Given the description of an element on the screen output the (x, y) to click on. 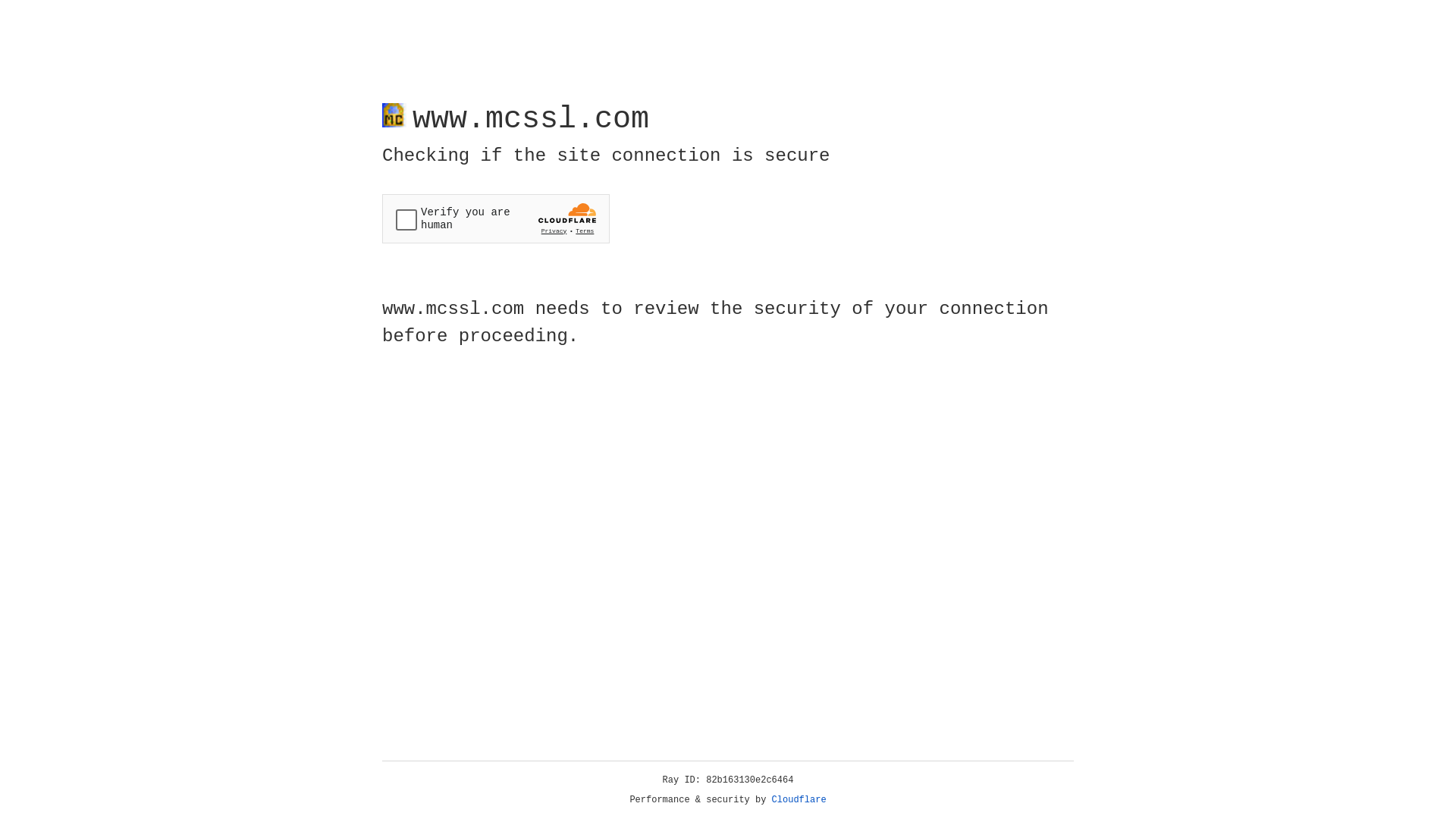
Cloudflare Element type: text (798, 799)
Widget containing a Cloudflare security challenge Element type: hover (495, 218)
